Given the description of an element on the screen output the (x, y) to click on. 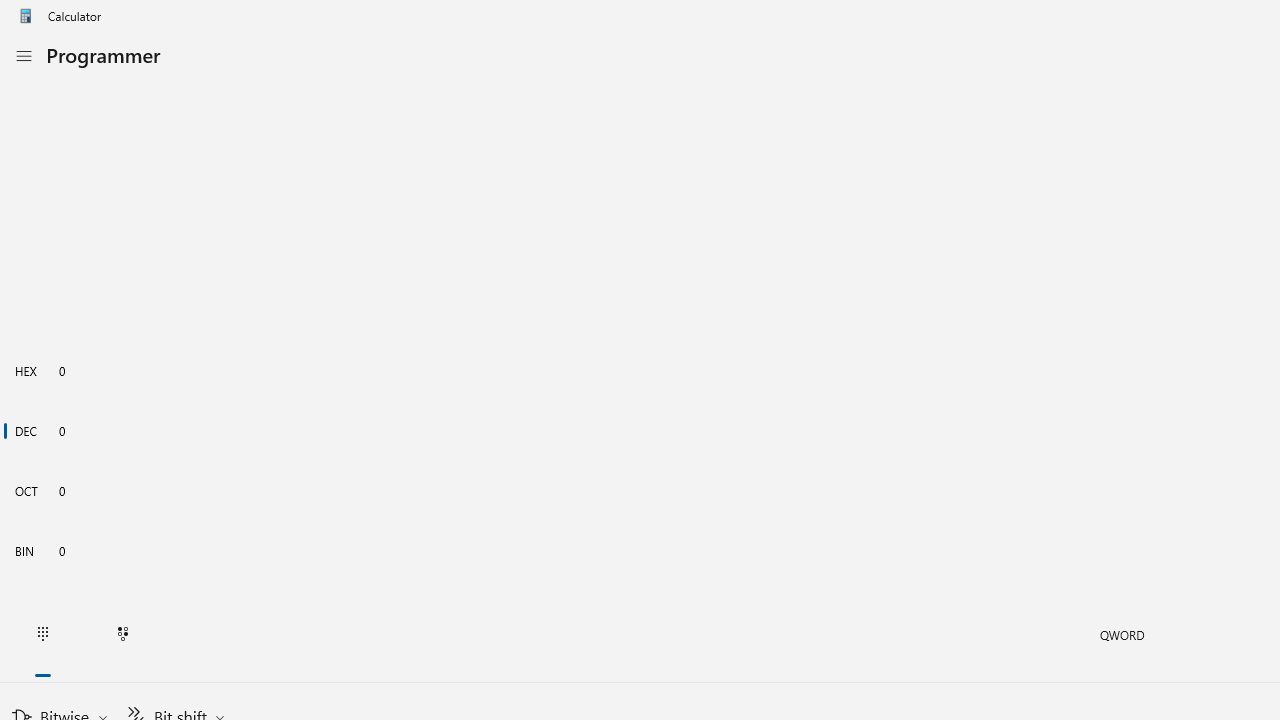
Full keypad (42, 634)
Bit toggling keypad (123, 634)
Open Navigation (23, 56)
Quadruple Word toggle (1121, 634)
